Given the description of an element on the screen output the (x, y) to click on. 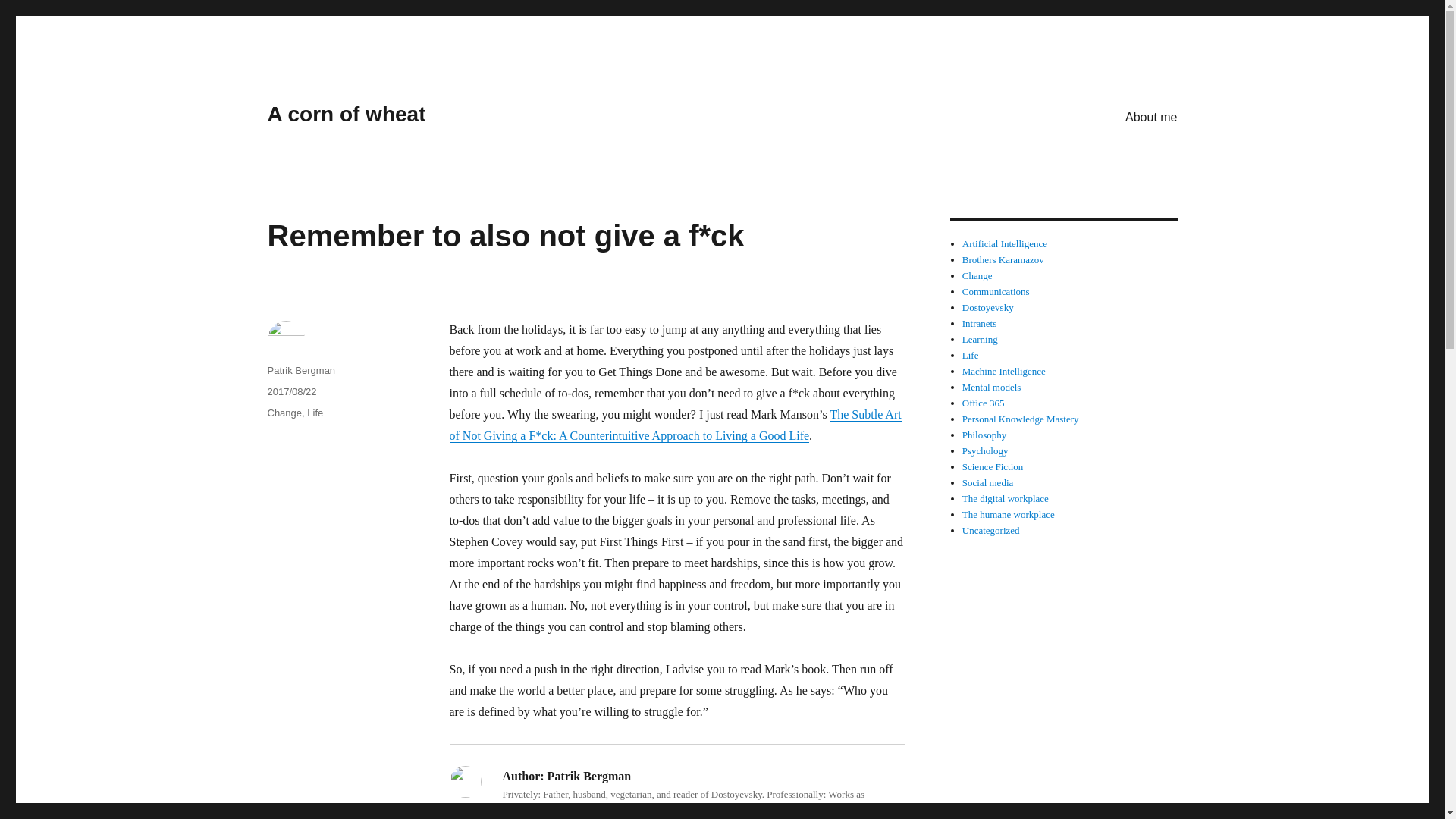
Machine Intelligence (1003, 370)
Uncategorized (991, 530)
Change (283, 412)
The humane workplace (1008, 514)
Life (315, 412)
Life (970, 355)
View all posts by Patrik Bergman (757, 809)
A corn of wheat (345, 114)
Change (977, 275)
The digital workplace (1005, 498)
